Given the description of an element on the screen output the (x, y) to click on. 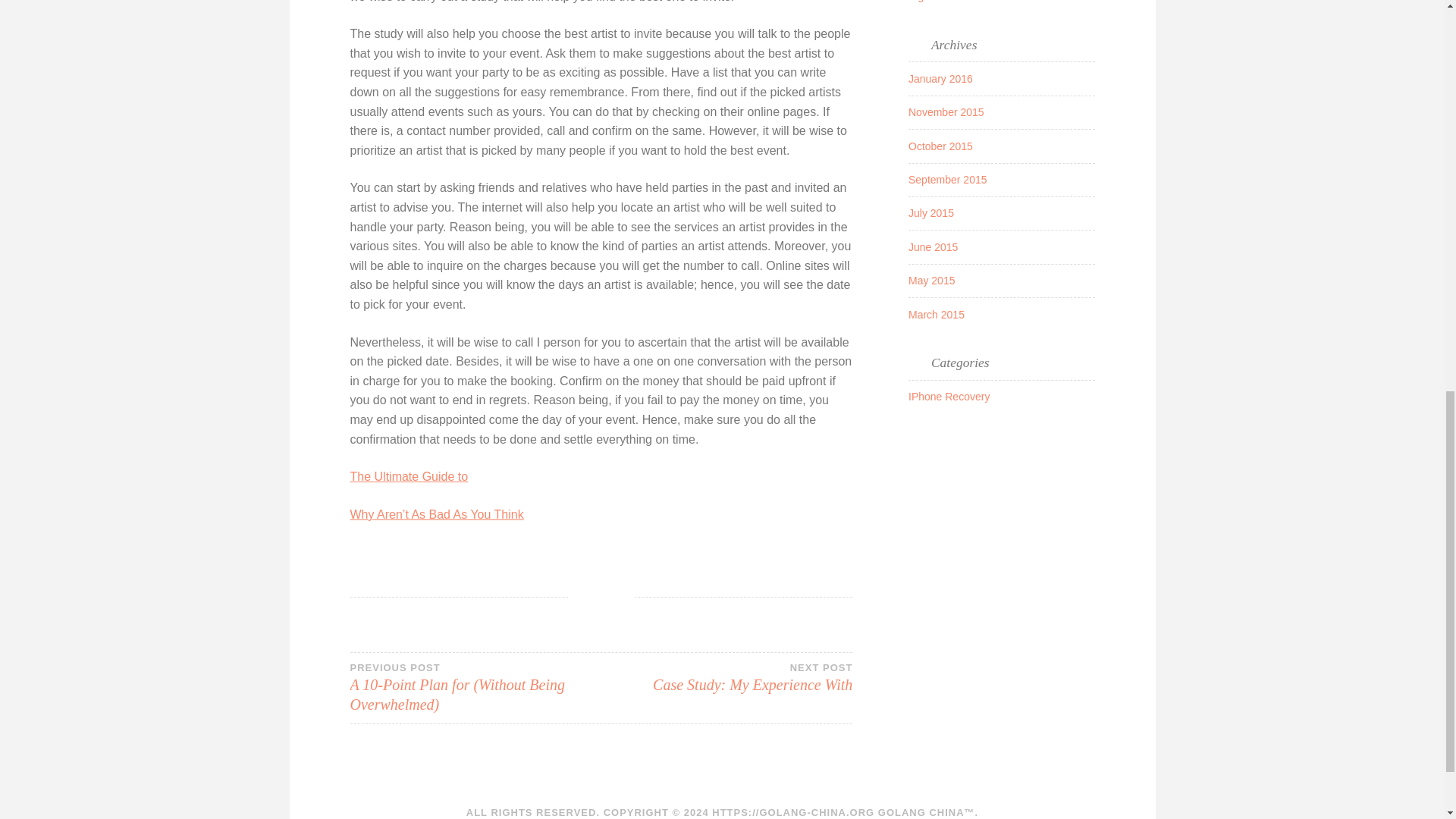
October 2015 (940, 146)
June 2015 (933, 246)
July 2015 (930, 213)
September 2015 (947, 179)
March 2015 (935, 314)
November 2015 (946, 111)
The Ultimate Guide to (409, 476)
IPhone Recovery (949, 396)
May 2015 (726, 676)
The Iphone And How It Can Make A Big difference To You (931, 280)
January 2016 (992, 1)
